Given the description of an element on the screen output the (x, y) to click on. 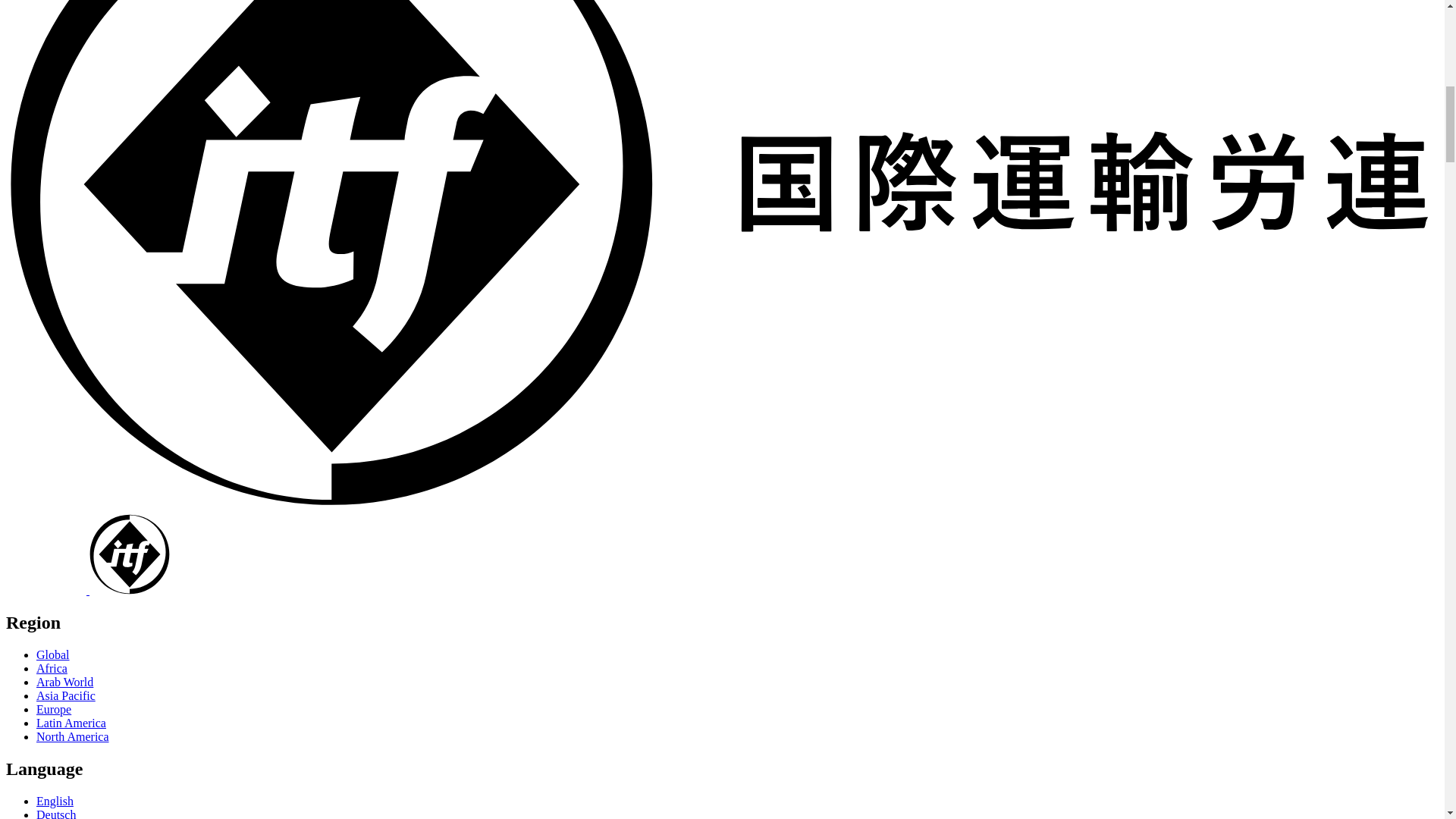
Arab World (64, 681)
Europe (53, 708)
Asia Pacific (66, 695)
Deutsch (55, 813)
Latin America (71, 722)
English (55, 800)
Global (52, 654)
North America (72, 736)
Africa (51, 667)
